Given the description of an element on the screen output the (x, y) to click on. 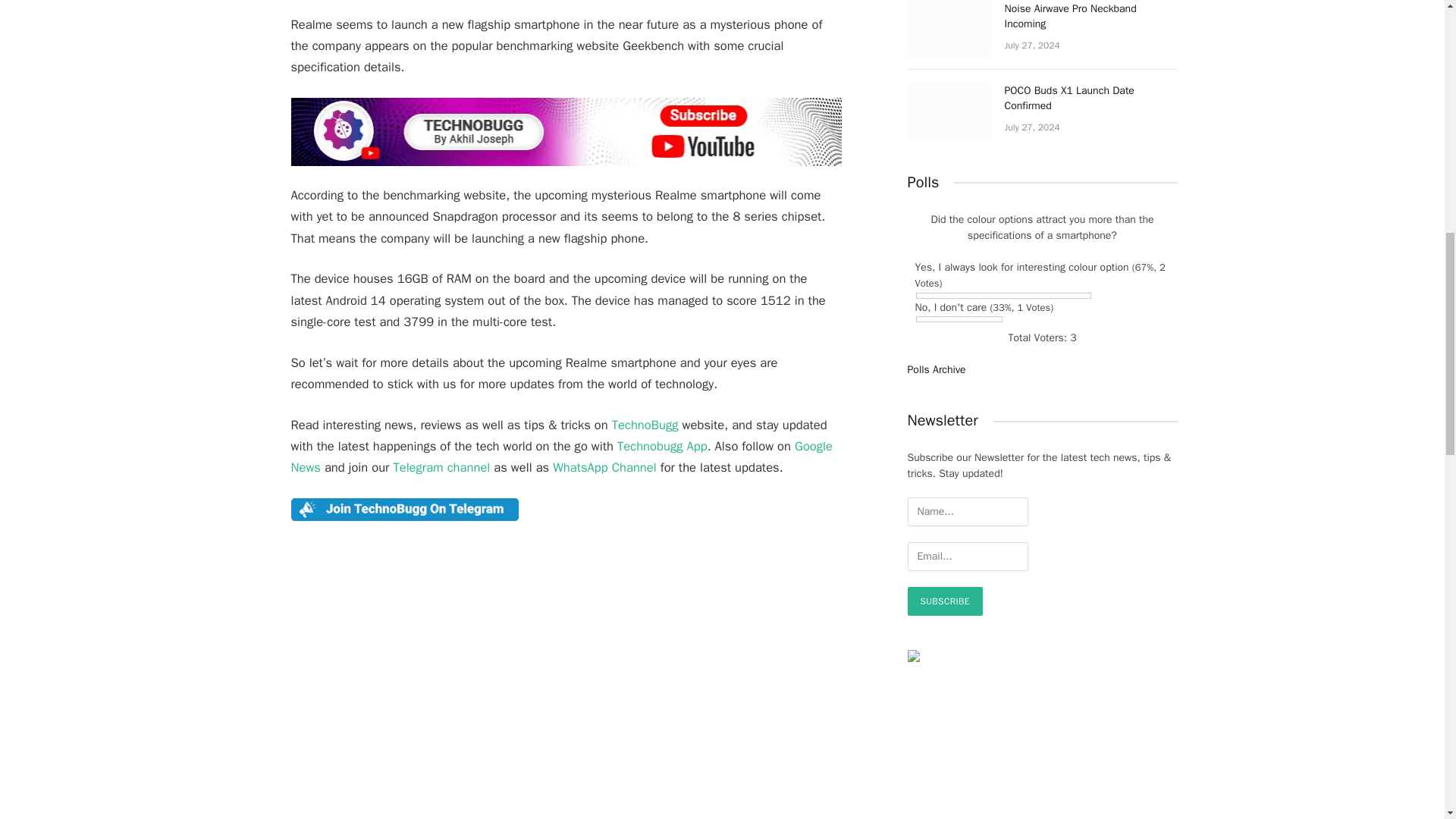
Subscribe (944, 601)
